Given the description of an element on the screen output the (x, y) to click on. 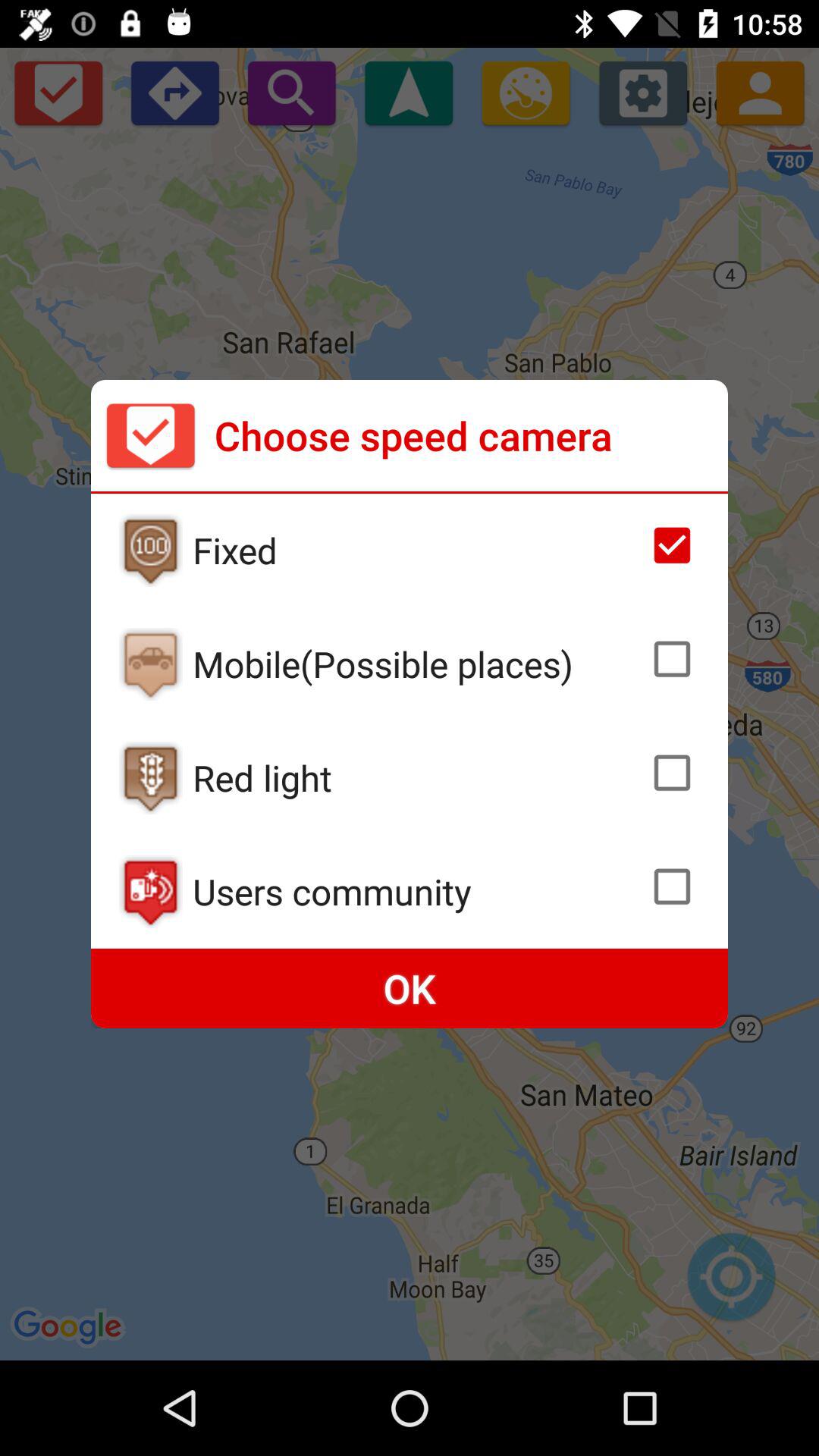
it is in a camera to change the color (150, 778)
